Given the description of an element on the screen output the (x, y) to click on. 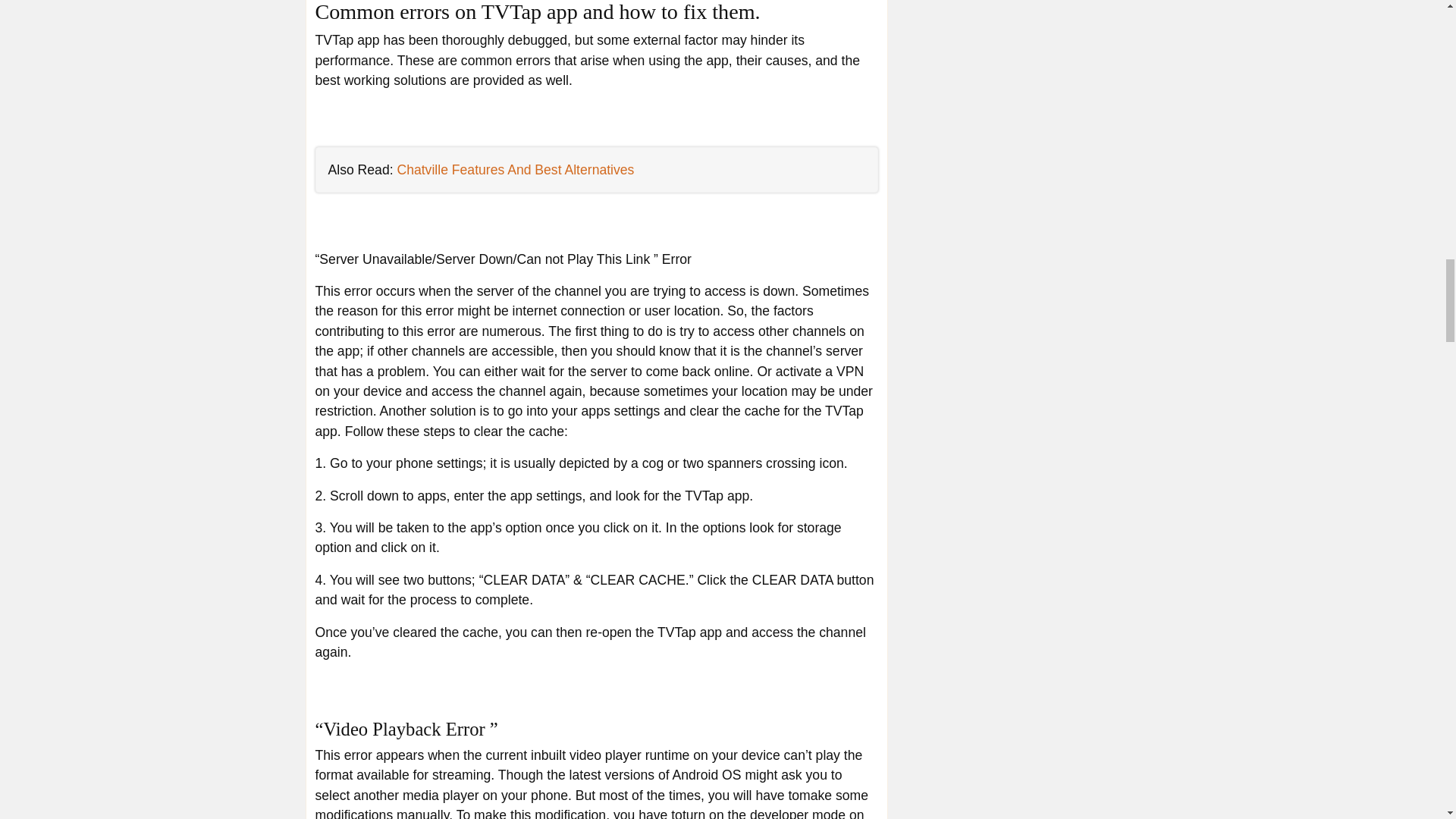
Chatville Features And Best Alternatives (514, 169)
